Given the description of an element on the screen output the (x, y) to click on. 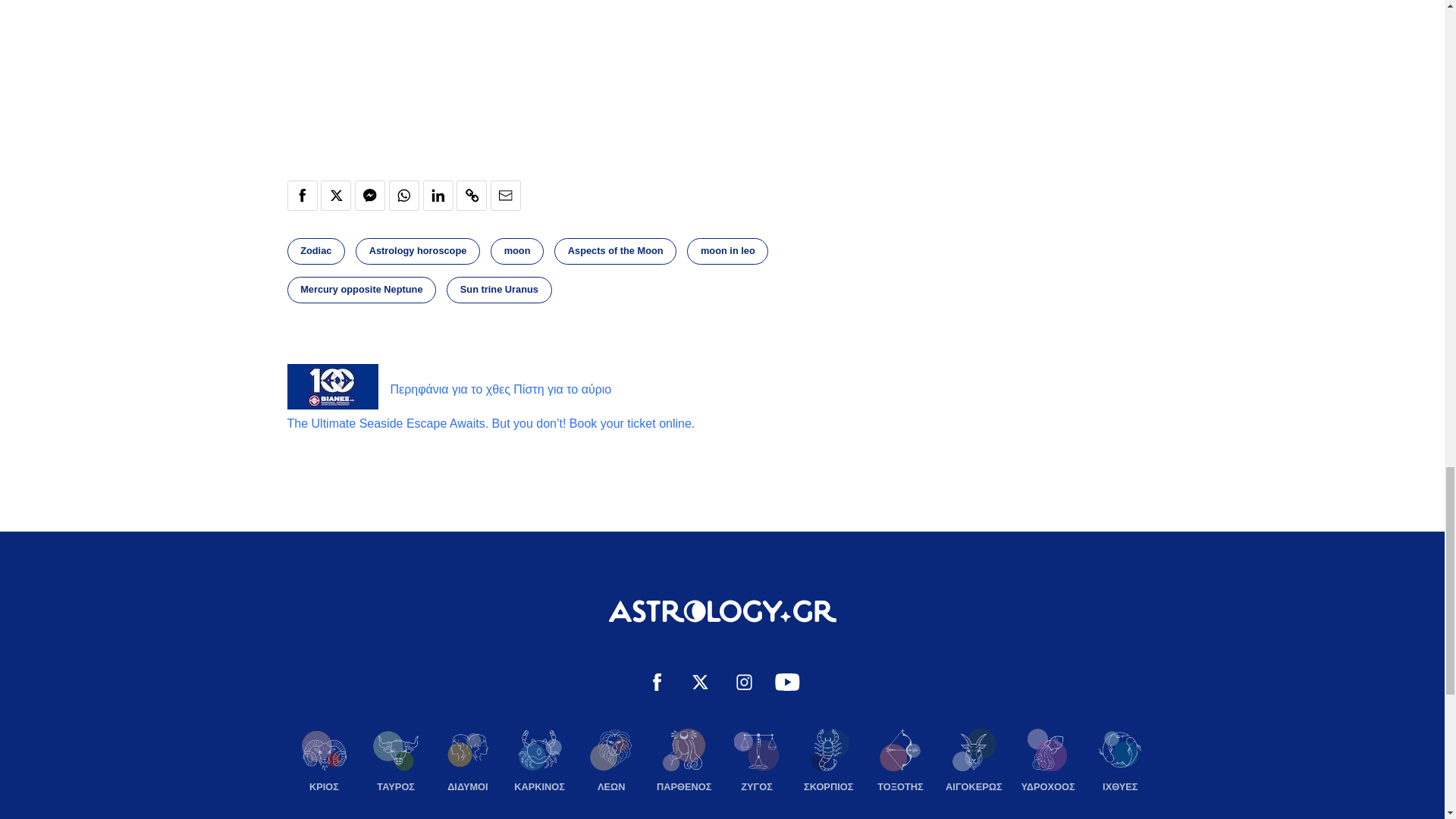
moon (516, 251)
Astrology horoscope (417, 251)
moon in leo (727, 251)
Aspects of the Moon (615, 251)
Zodiac (315, 251)
Sun trine Uranus (498, 289)
Mercury opposite Neptune (360, 289)
